Given the description of an element on the screen output the (x, y) to click on. 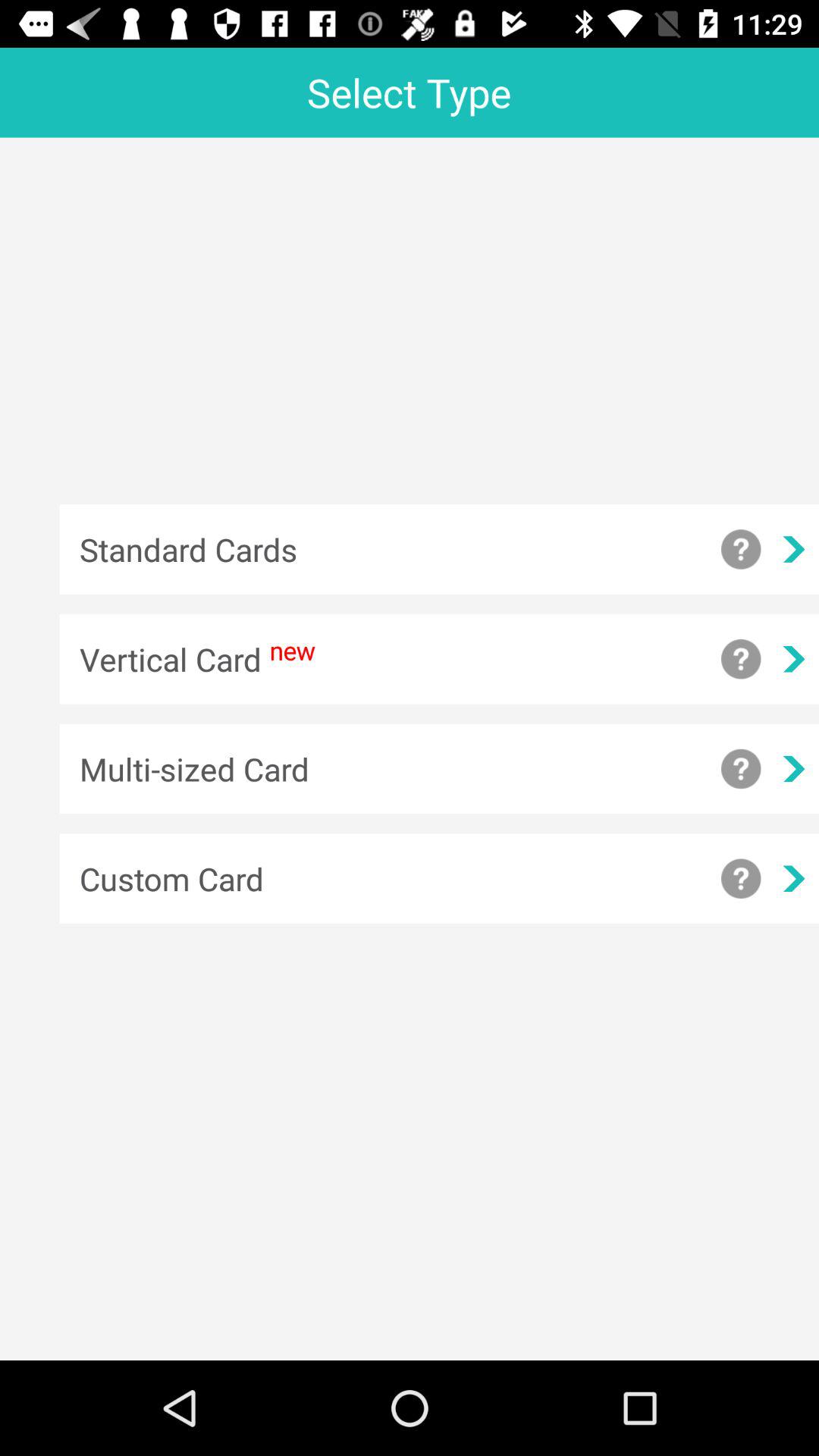
more information (740, 768)
